Given the description of an element on the screen output the (x, y) to click on. 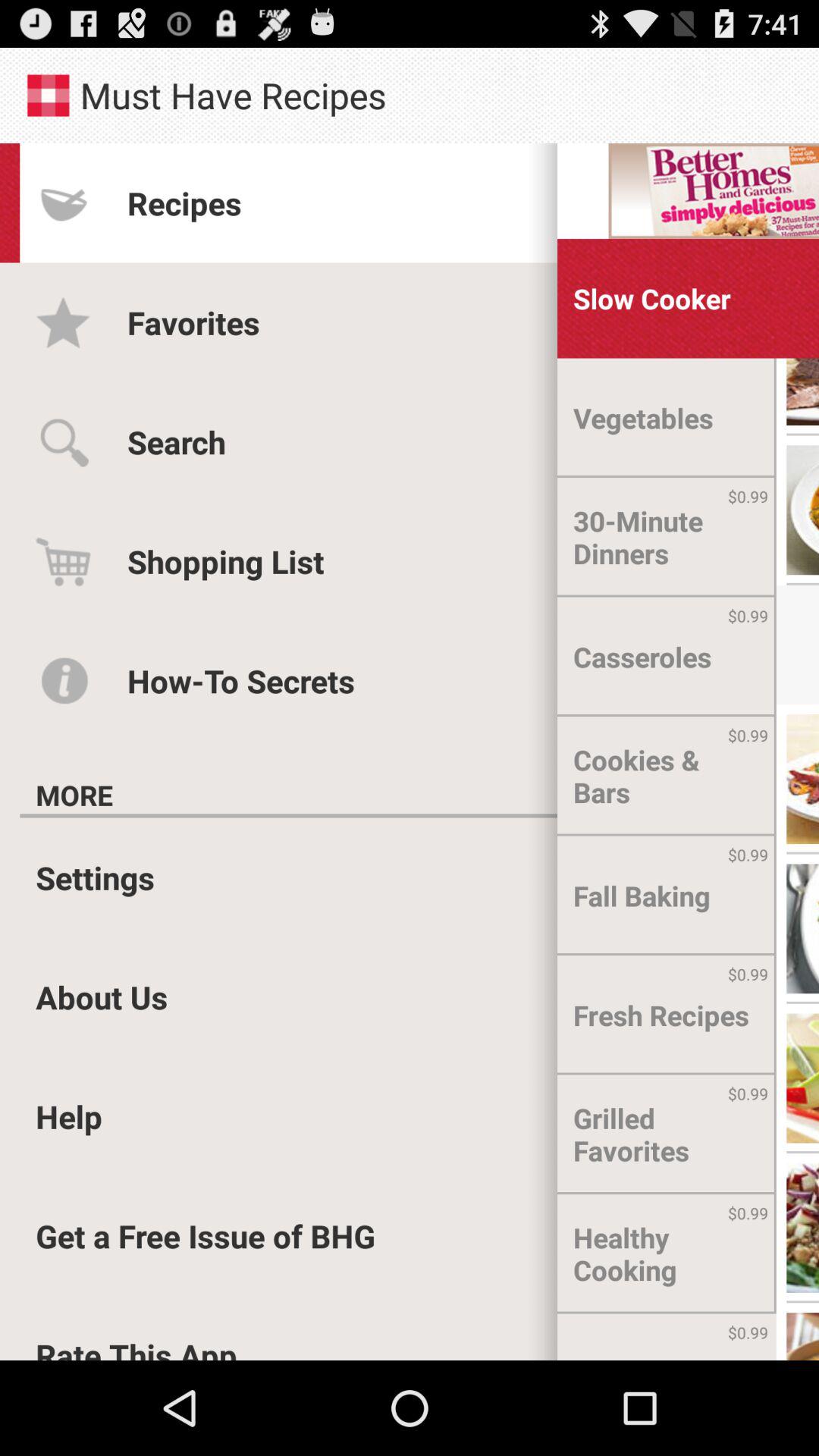
press the item to the left of the $0.99 item (626, 1336)
